Given the description of an element on the screen output the (x, y) to click on. 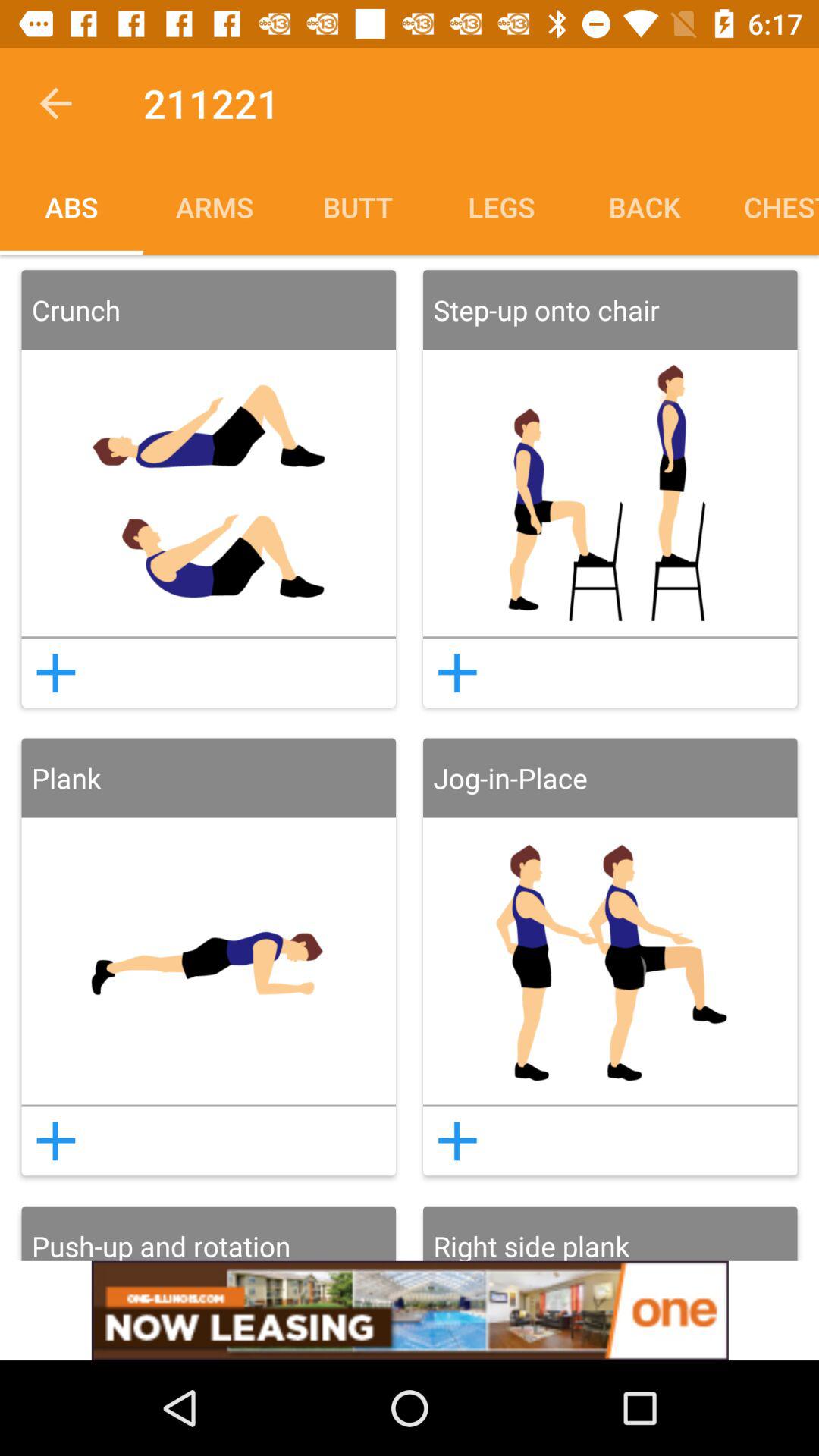
add page (457, 1140)
